Given the description of an element on the screen output the (x, y) to click on. 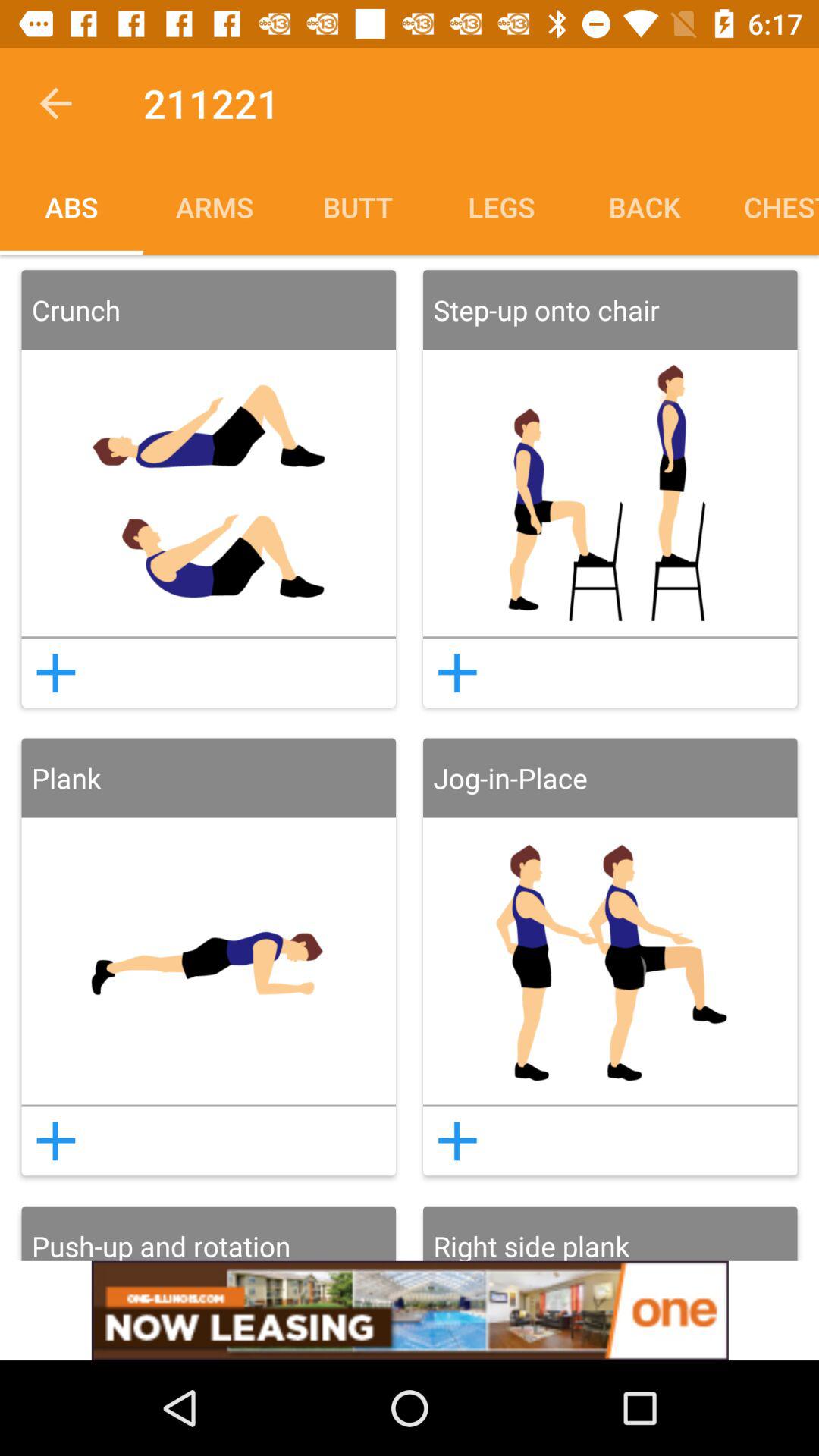
add page (457, 1140)
